Given the description of an element on the screen output the (x, y) to click on. 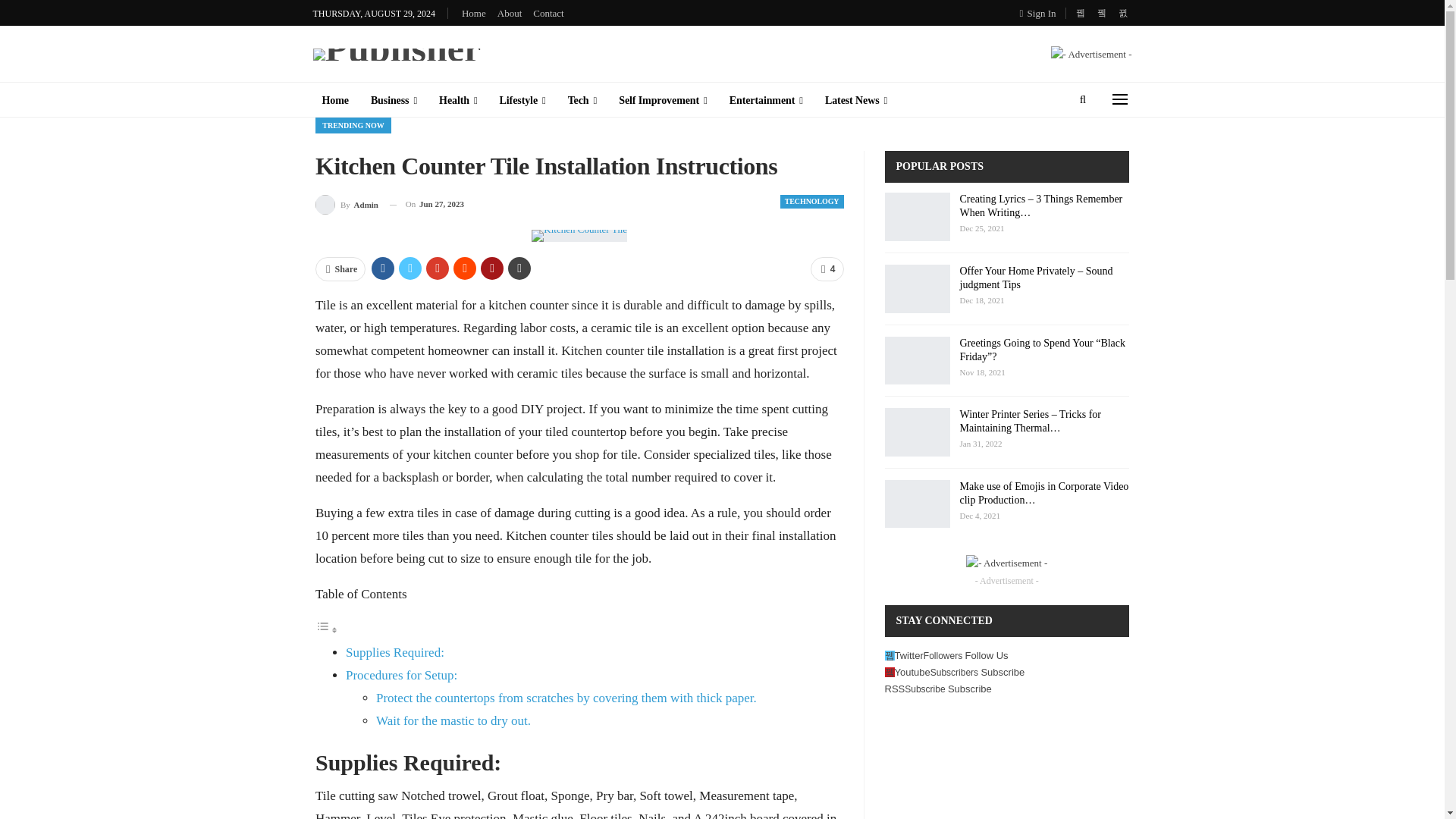
Contact (547, 12)
Home (334, 100)
Home (473, 12)
Wait for the mastic to dry out. (453, 720)
Supplies Required: (395, 652)
Tech (583, 100)
Lifestyle (522, 100)
Business (393, 100)
Browse Author Articles (346, 204)
